Given the description of an element on the screen output the (x, y) to click on. 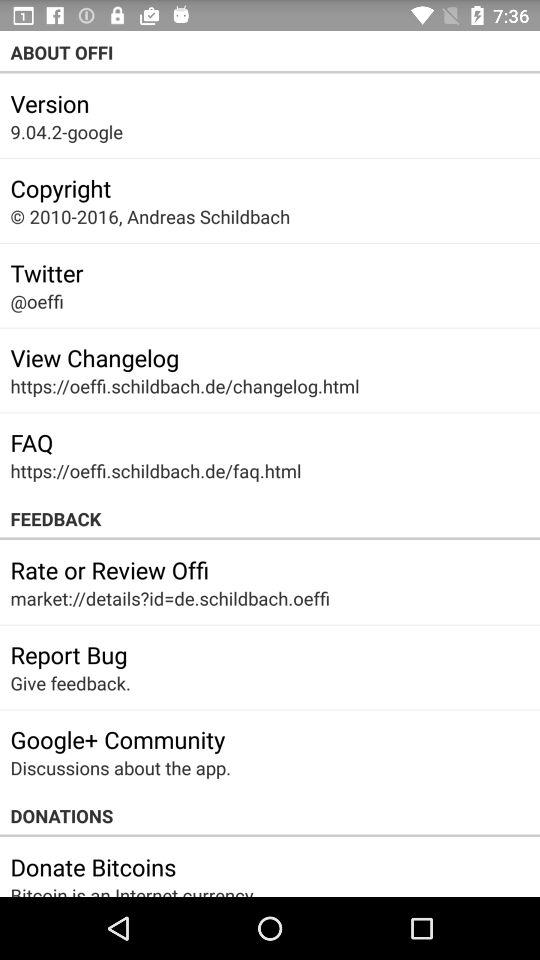
click the icon below the about offi (49, 103)
